Given the description of an element on the screen output the (x, y) to click on. 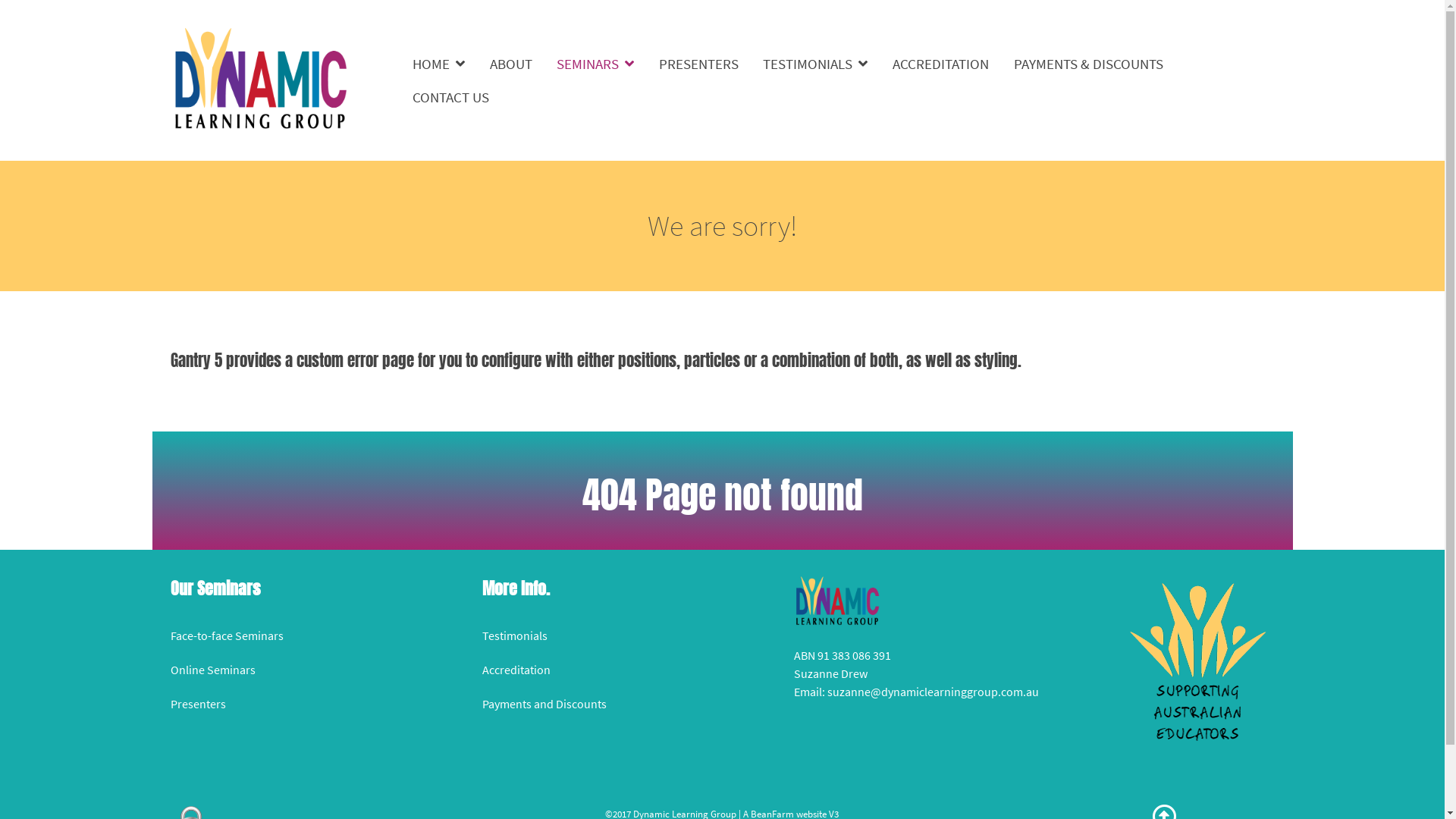
Presenters Element type: text (197, 703)
Versla Element type: hover (1198, 660)
Payments and Discounts Element type: text (544, 703)
ABOUT Element type: text (510, 63)
PAYMENTS & DISCOUNTS Element type: text (1088, 63)
suzanne@dynamiclearninggroup.com.au Element type: text (932, 691)
CONTACT US Element type: text (450, 96)
PRESENTERS Element type: text (698, 63)
Accreditation Element type: text (516, 669)
Versla Element type: hover (259, 77)
HOME Element type: text (438, 63)
ACCREDITATION Element type: text (940, 63)
Testimonials Element type: text (514, 635)
TESTIMONIALS Element type: text (815, 63)
Online Seminars Element type: text (211, 669)
Face-to-face Seminars Element type: text (225, 635)
